Given the description of an element on the screen output the (x, y) to click on. 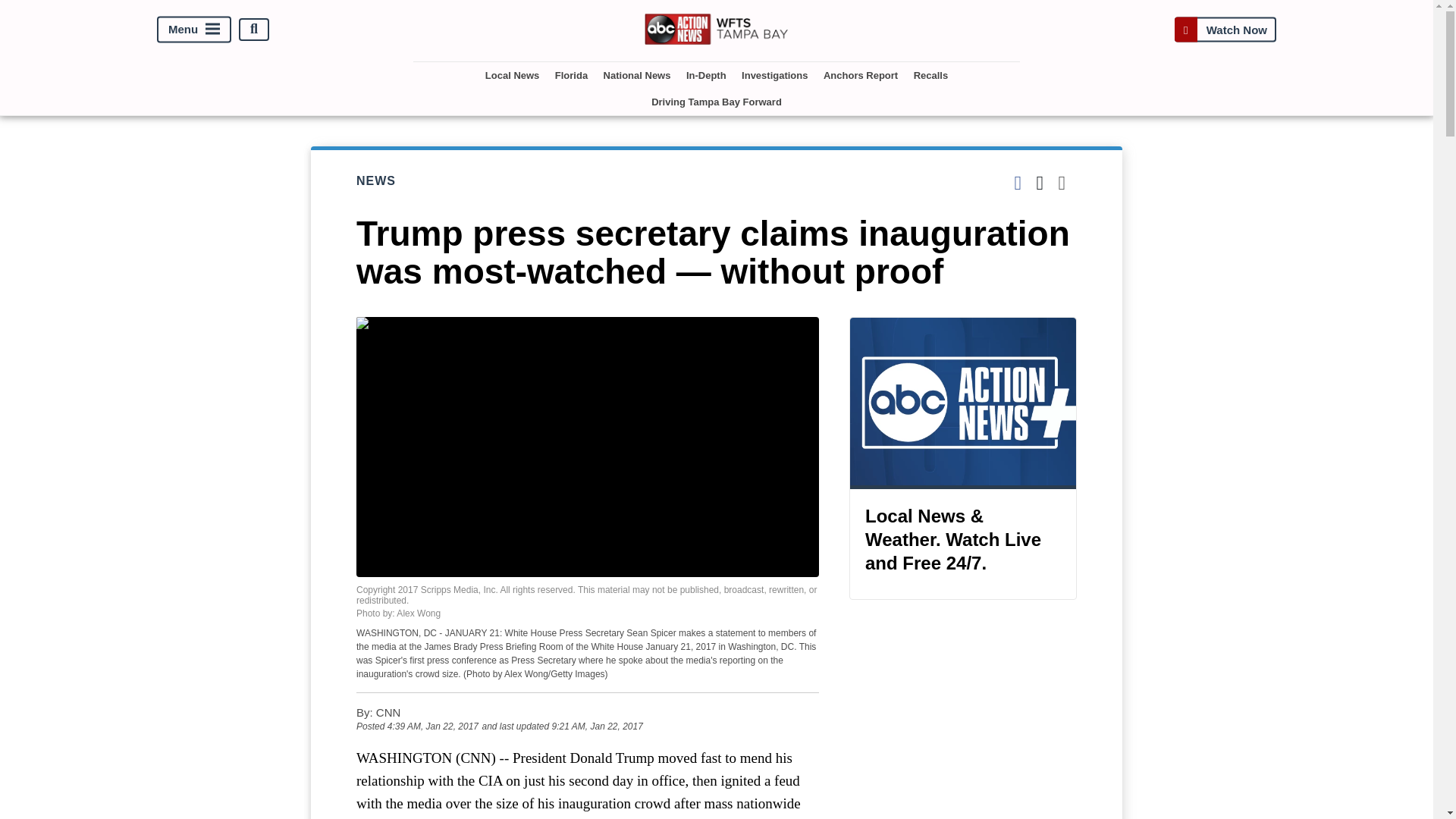
Watch Now (1224, 29)
Menu (194, 28)
